Given the description of an element on the screen output the (x, y) to click on. 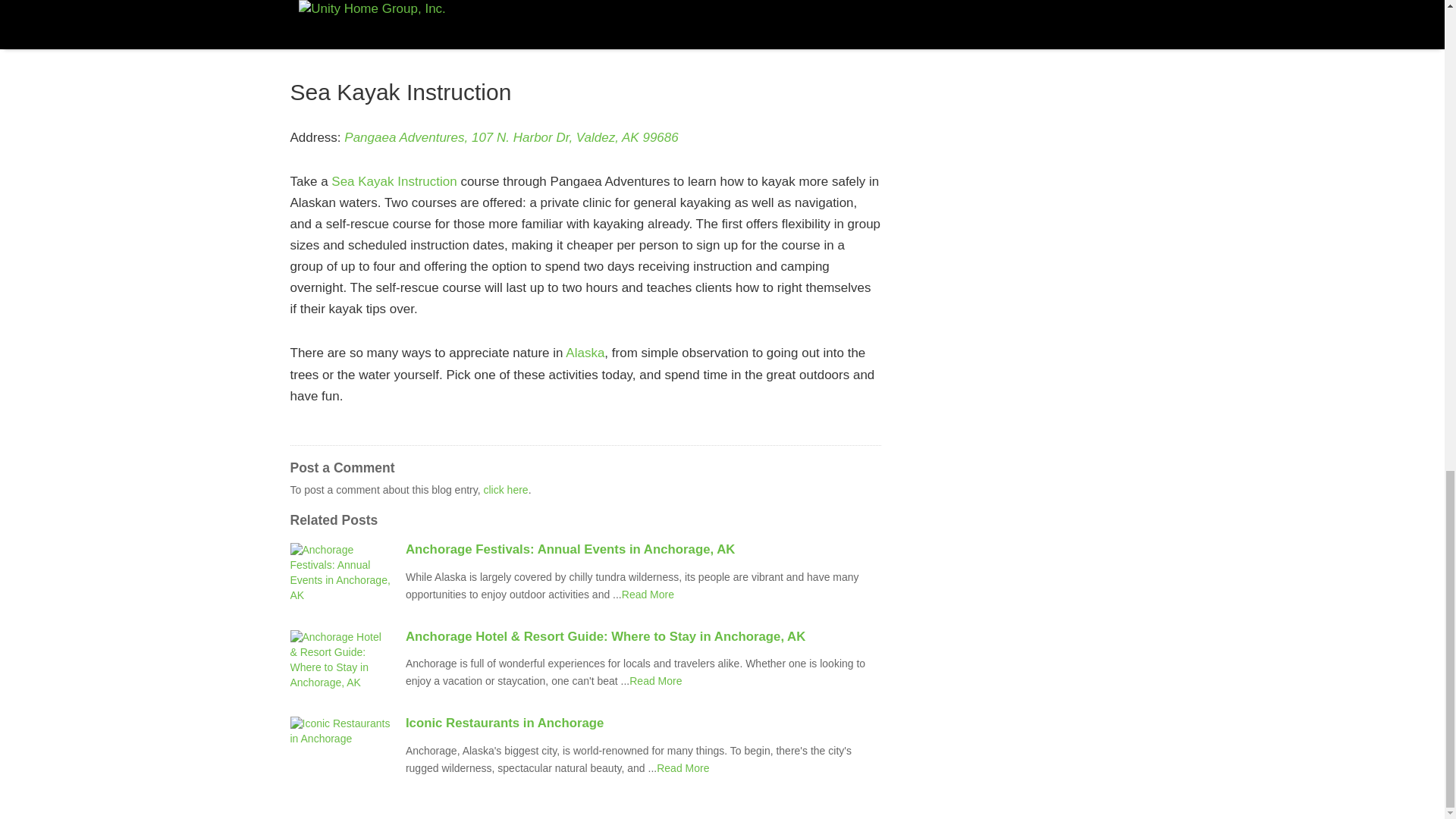
4 Best Outdoor Activities to Explore in Alaska (647, 594)
Iconic Restaurants in Anchorage (643, 723)
4 Best Outdoor Activities to Explore in Alaska (682, 767)
4 Best Outdoor Activities to Explore in Alaska (654, 680)
Anchorage Festivals: Annual Events in Anchorage, AK (643, 549)
